Given the description of an element on the screen output the (x, y) to click on. 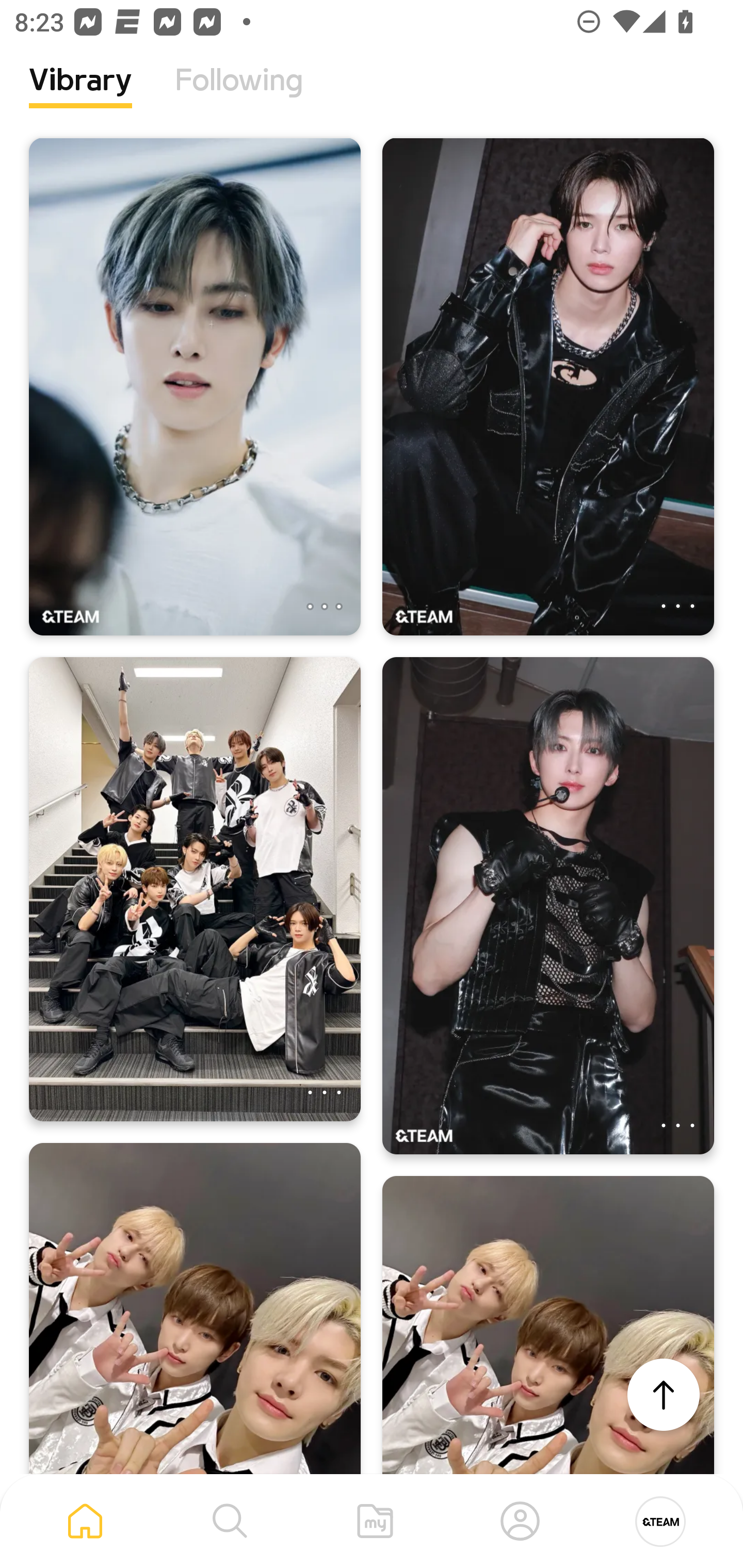
Vibrary (80, 95)
Following (239, 95)
